Given the description of an element on the screen output the (x, y) to click on. 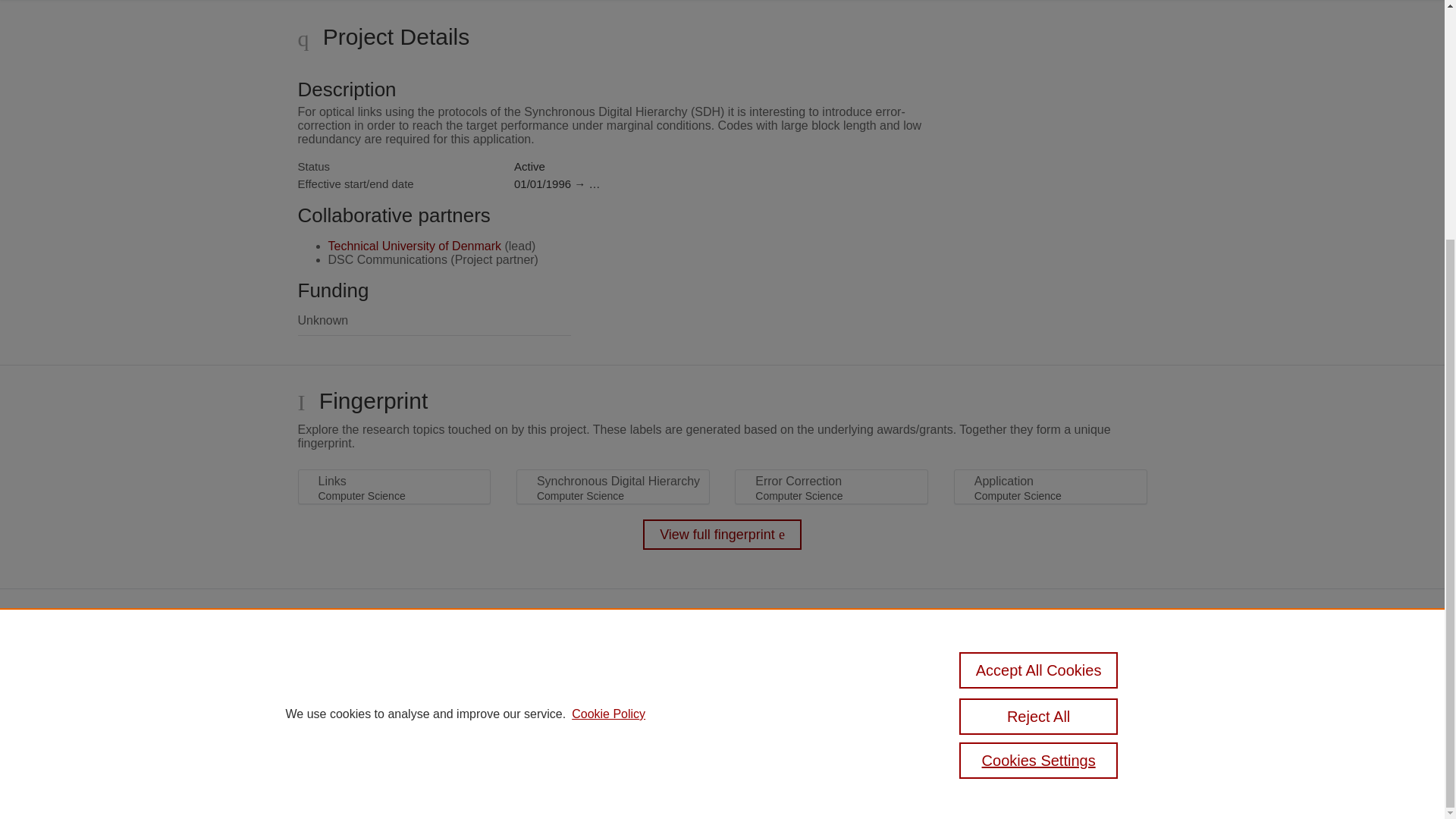
Cookies Settings (494, 760)
use of cookies (503, 739)
Report vulnerability (989, 727)
Welcome to DTU Research Database data protection policy (1007, 675)
Elsevier B.V. (665, 685)
Contact us (1124, 670)
About web accessibility (998, 707)
Cookie Policy (608, 384)
Scopus (553, 664)
Pure (521, 664)
Technical University of Denmark (413, 245)
View full fingerprint (722, 534)
Log in to DTU Orbit (499, 781)
